Given the description of an element on the screen output the (x, y) to click on. 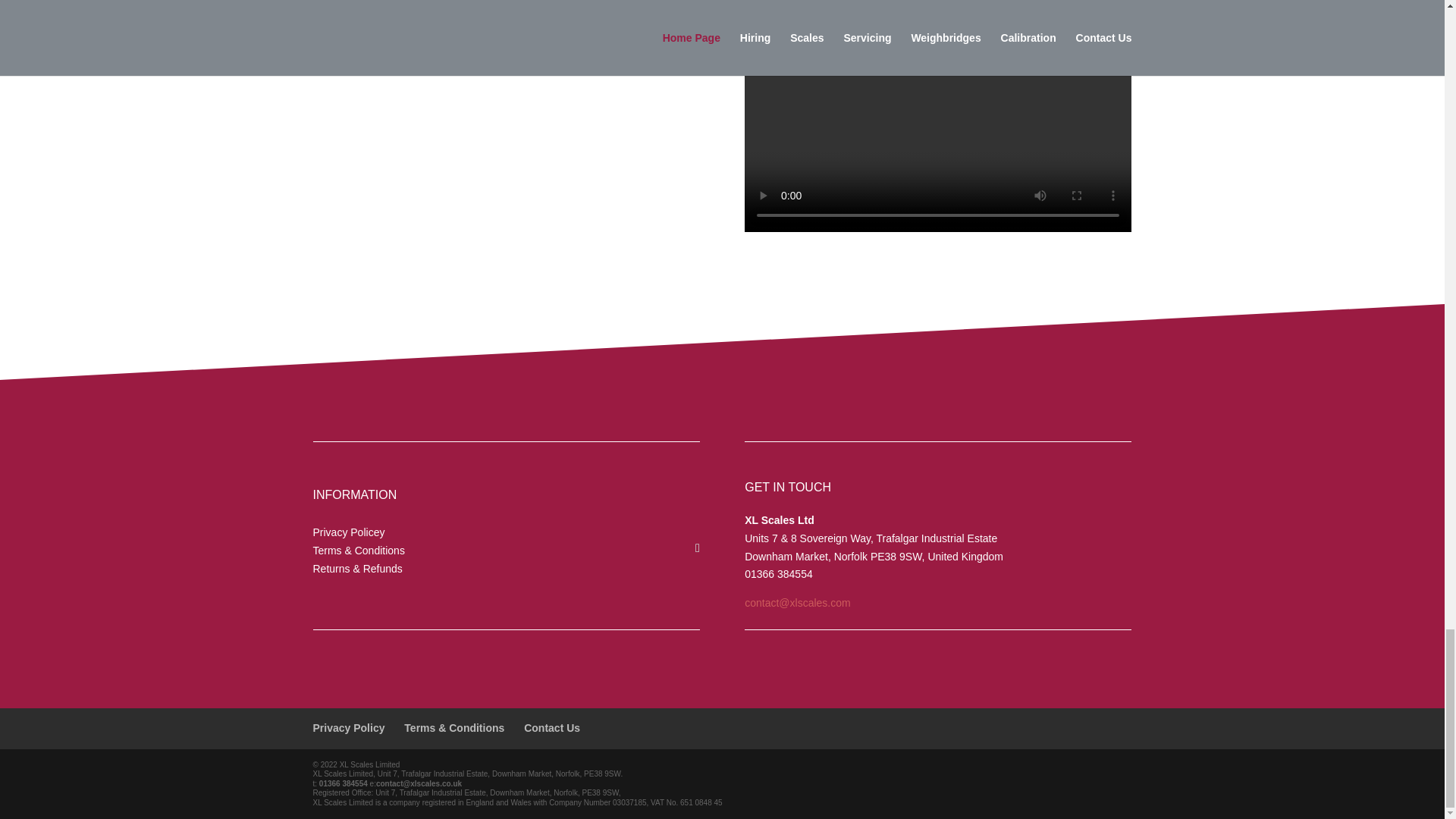
01366 384554 (343, 783)
Contact Us (551, 727)
Privacy Policy (348, 727)
